Given the description of an element on the screen output the (x, y) to click on. 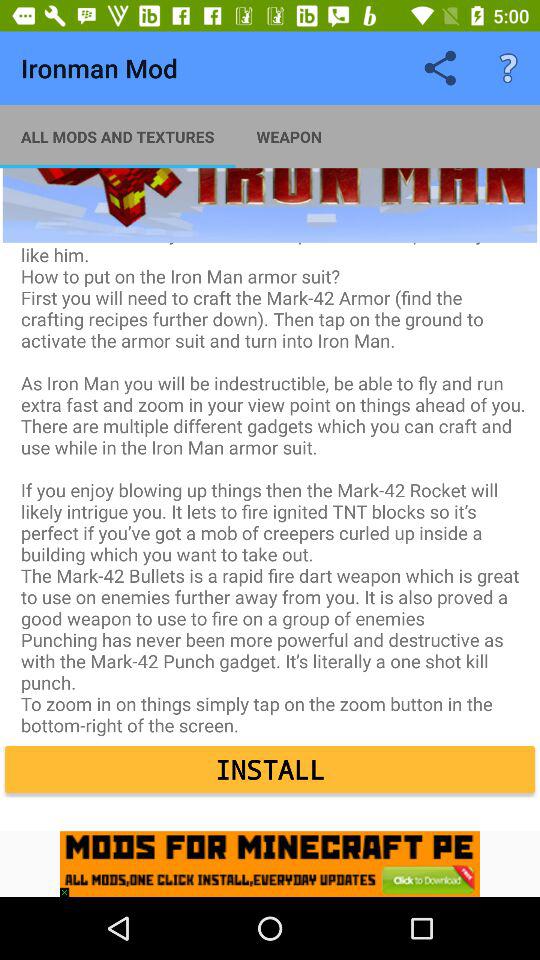
open the app to the left of the weapon item (117, 136)
